Given the description of an element on the screen output the (x, y) to click on. 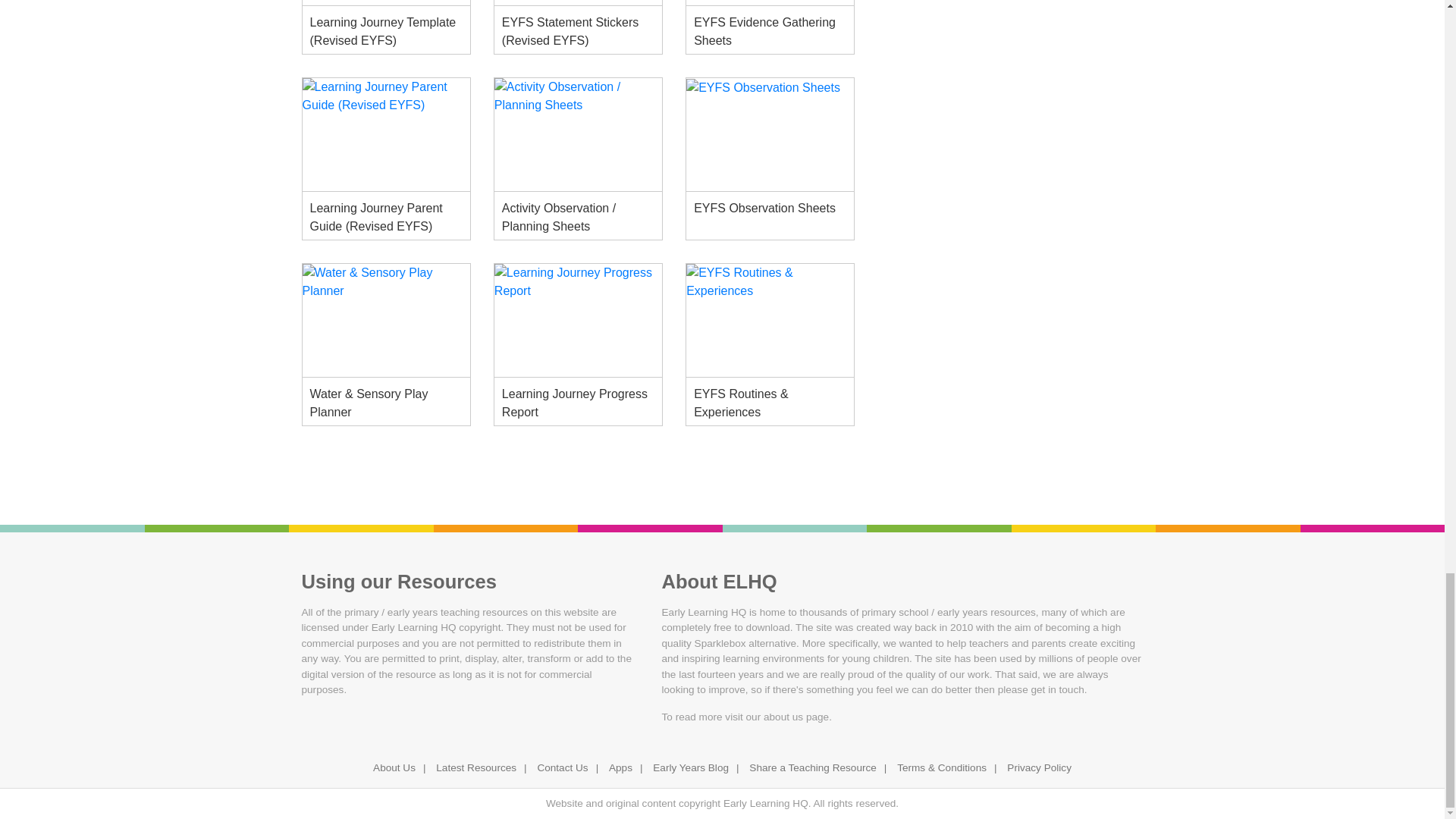
EYFS Observation Sheets (769, 134)
EYFS Evidence Gathering Sheets (769, 2)
EYFS Evidence Gathering Sheets (769, 29)
